Given the description of an element on the screen output the (x, y) to click on. 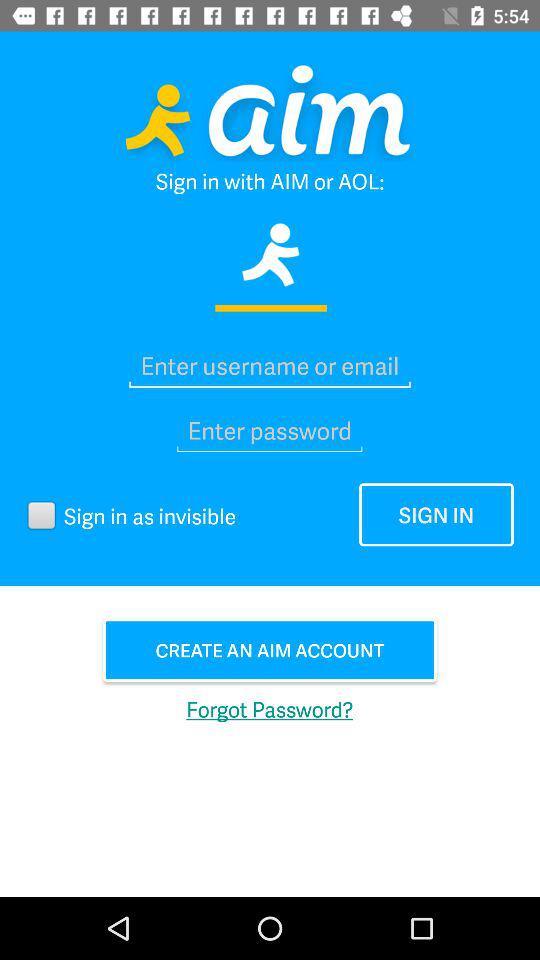
select the item below create an aim button (269, 708)
